Given the description of an element on the screen output the (x, y) to click on. 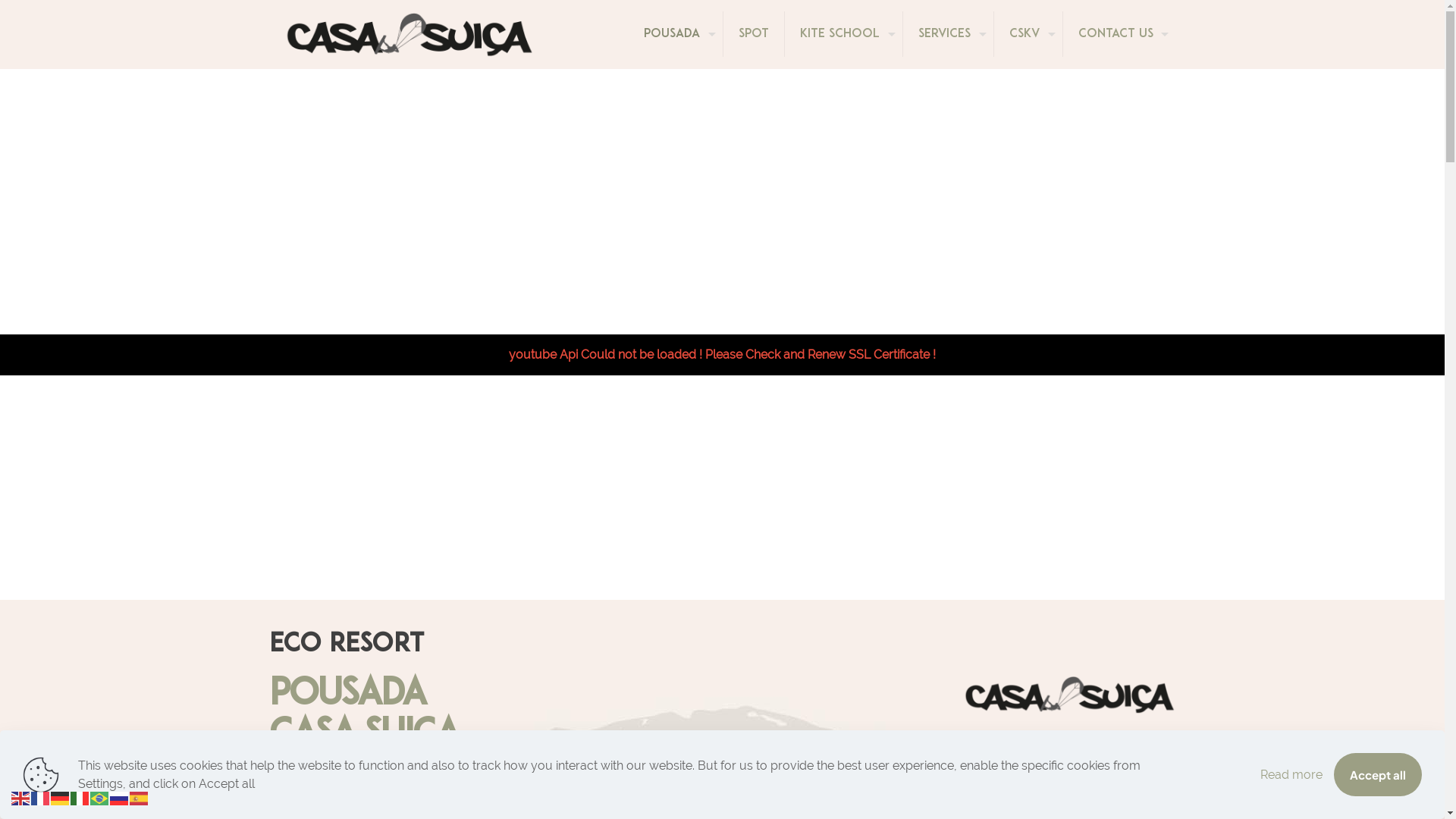
POUSADA Element type: text (674, 34)
Italian Element type: hover (80, 797)
SERVICES Element type: text (947, 34)
Spanish Element type: hover (139, 797)
Read more Element type: text (1291, 774)
SPOT Element type: text (753, 34)
German Element type: hover (60, 797)
KITE SCHOOL Element type: text (843, 34)
French Element type: hover (40, 797)
English Element type: hover (21, 797)
Russian Element type: hover (119, 797)
CSKV Element type: text (1027, 34)
Accept all Element type: text (1377, 774)
Portuguese Element type: hover (99, 797)
CONTACT US Element type: text (1119, 34)
